Given the description of an element on the screen output the (x, y) to click on. 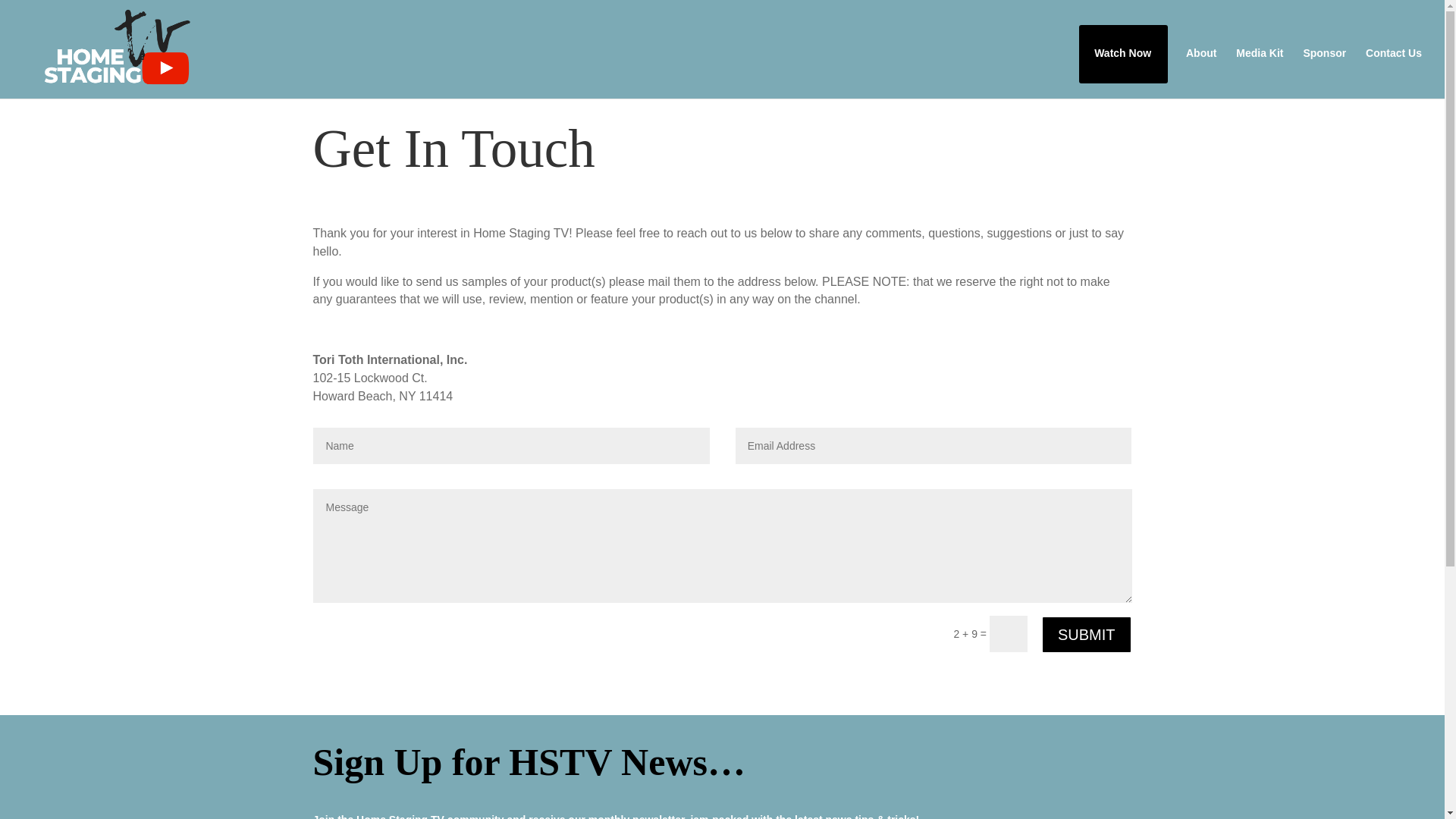
SUBMIT (1086, 634)
Sponsor (1324, 65)
Media Kit (1259, 65)
Contact Us (1393, 65)
Watch Now (1122, 65)
